Given the description of an element on the screen output the (x, y) to click on. 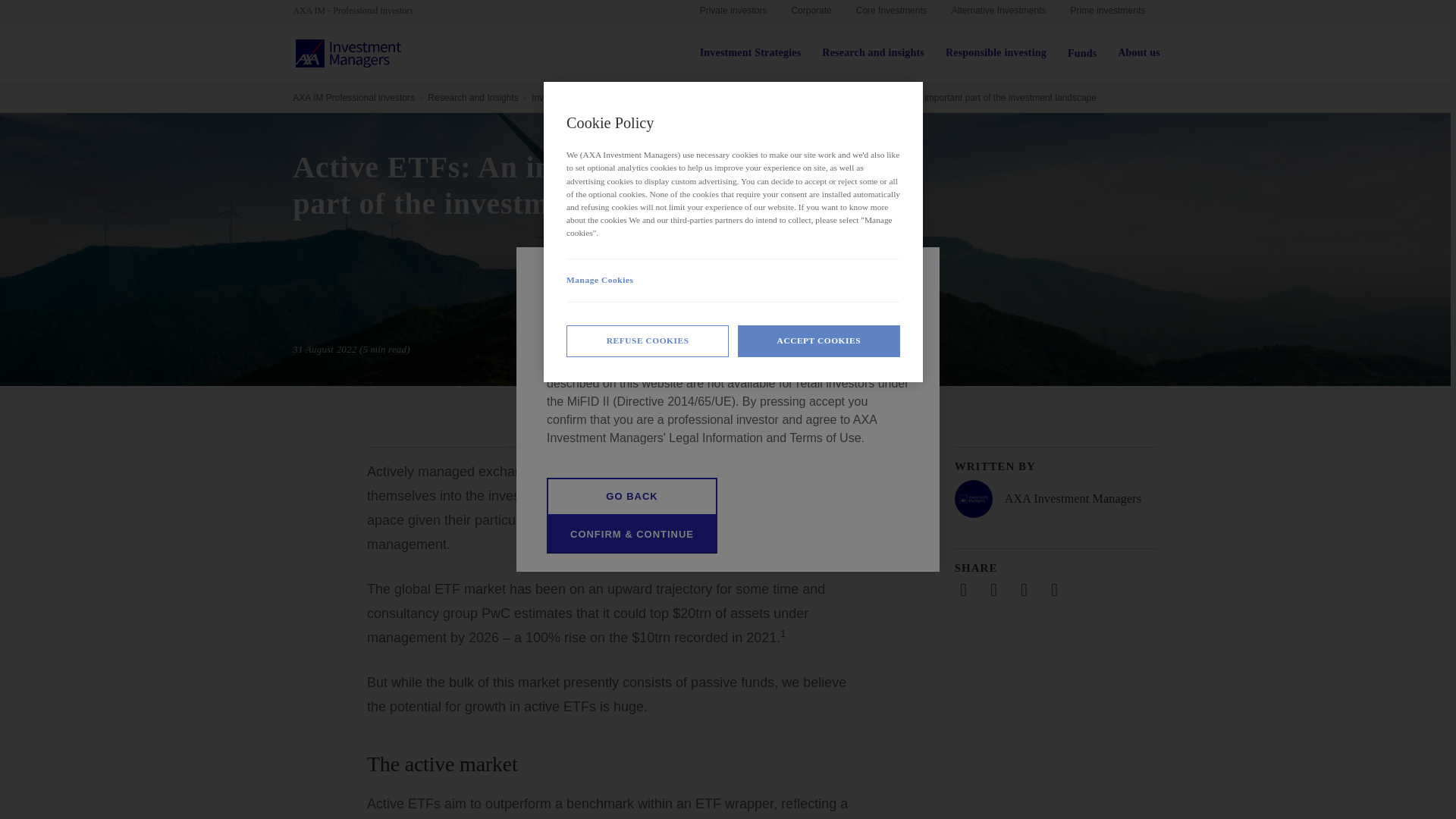
AXA IM - Professional investors, Home (360, 10)
Shared by mail (1023, 589)
Corporate (810, 12)
Core Investments (891, 12)
Research and insights (873, 53)
AXA IM - Professional investors (360, 10)
Alternative Investments (998, 12)
AXA Investment Managers, Home (348, 53)
Share on LinkedIn - New window (963, 589)
Private investors (732, 12)
